Given the description of an element on the screen output the (x, y) to click on. 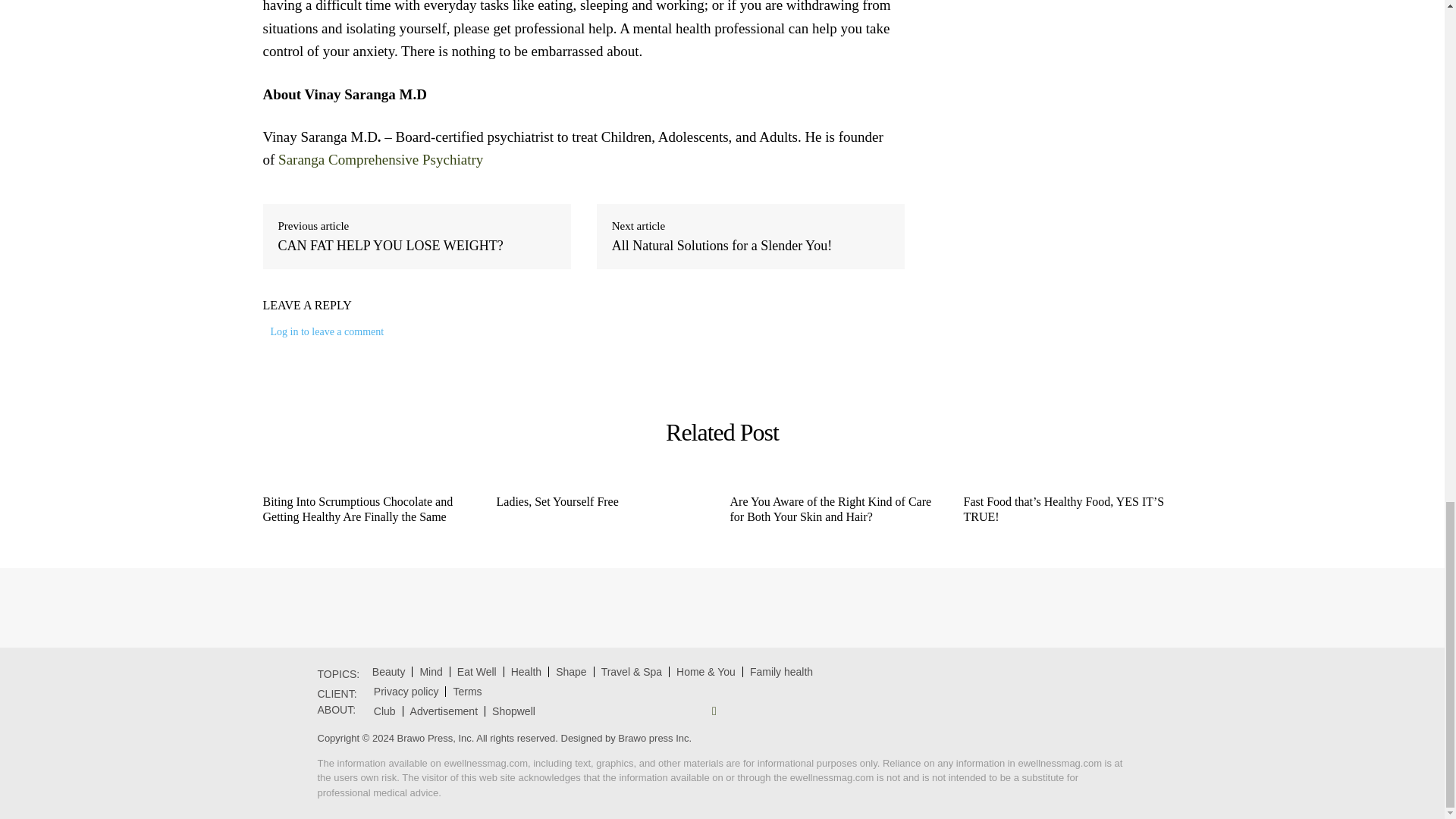
Saranga Comprehensive Psychiatry  (382, 159)
